Given the description of an element on the screen output the (x, y) to click on. 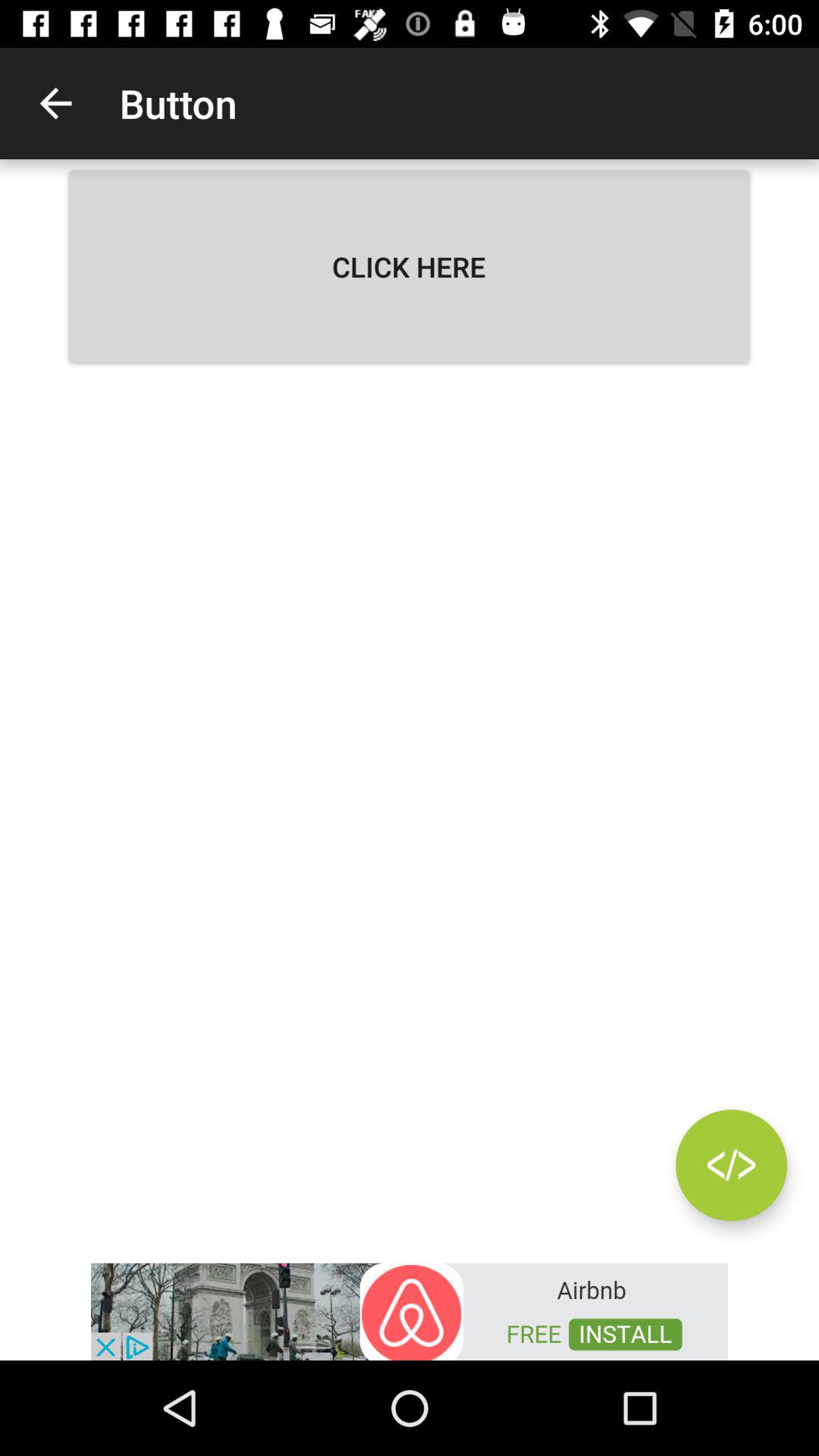
bottom advertisement (409, 1310)
